Given the description of an element on the screen output the (x, y) to click on. 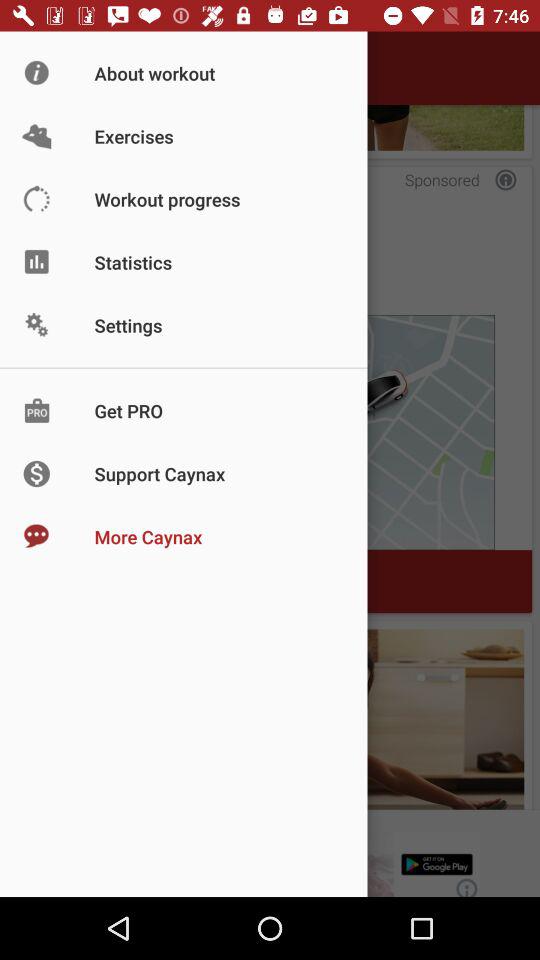
select the button which is above the workout progress (269, 127)
